Given the description of an element on the screen output the (x, y) to click on. 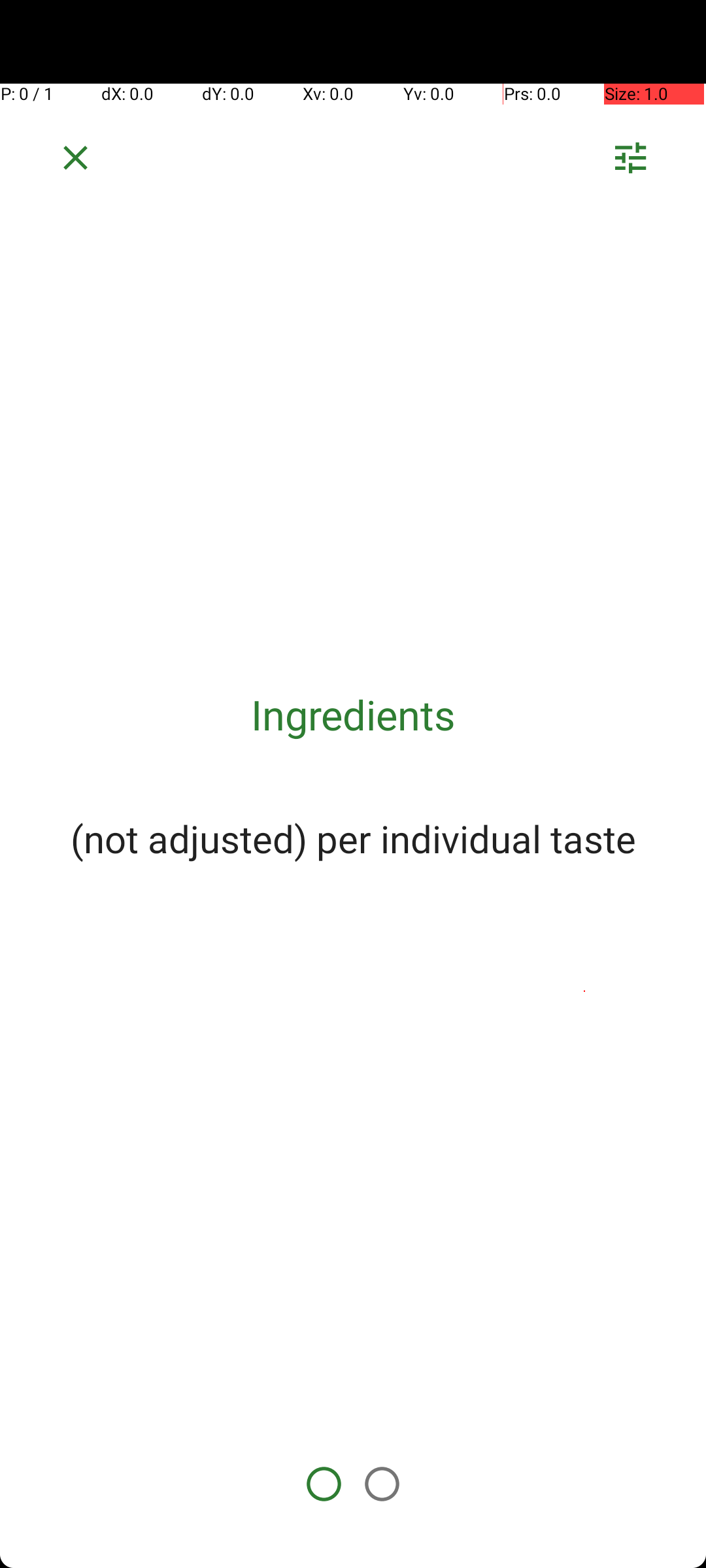
(not adjusted) per individual taste Element type: android.widget.TextView (353, 838)
